Given the description of an element on the screen output the (x, y) to click on. 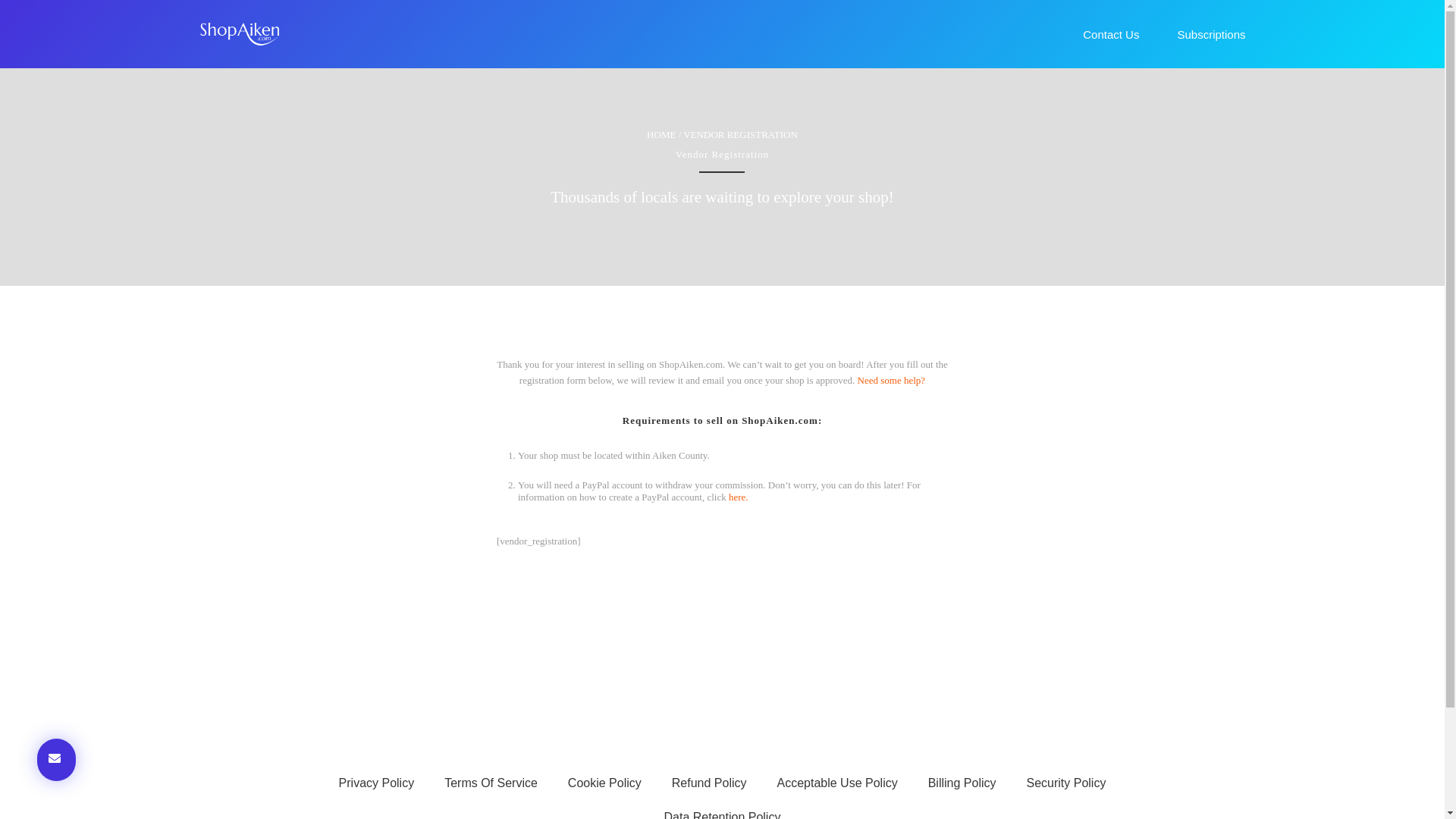
Cookie Policy (604, 782)
Data Retention Policy (722, 809)
Acceptable Use Policy (836, 782)
Refund Policy (708, 782)
Security Policy (1066, 782)
HOME (660, 134)
Privacy Policy (376, 782)
here. (738, 496)
Need some help? (891, 379)
Subscriptions (1210, 34)
